Given the description of an element on the screen output the (x, y) to click on. 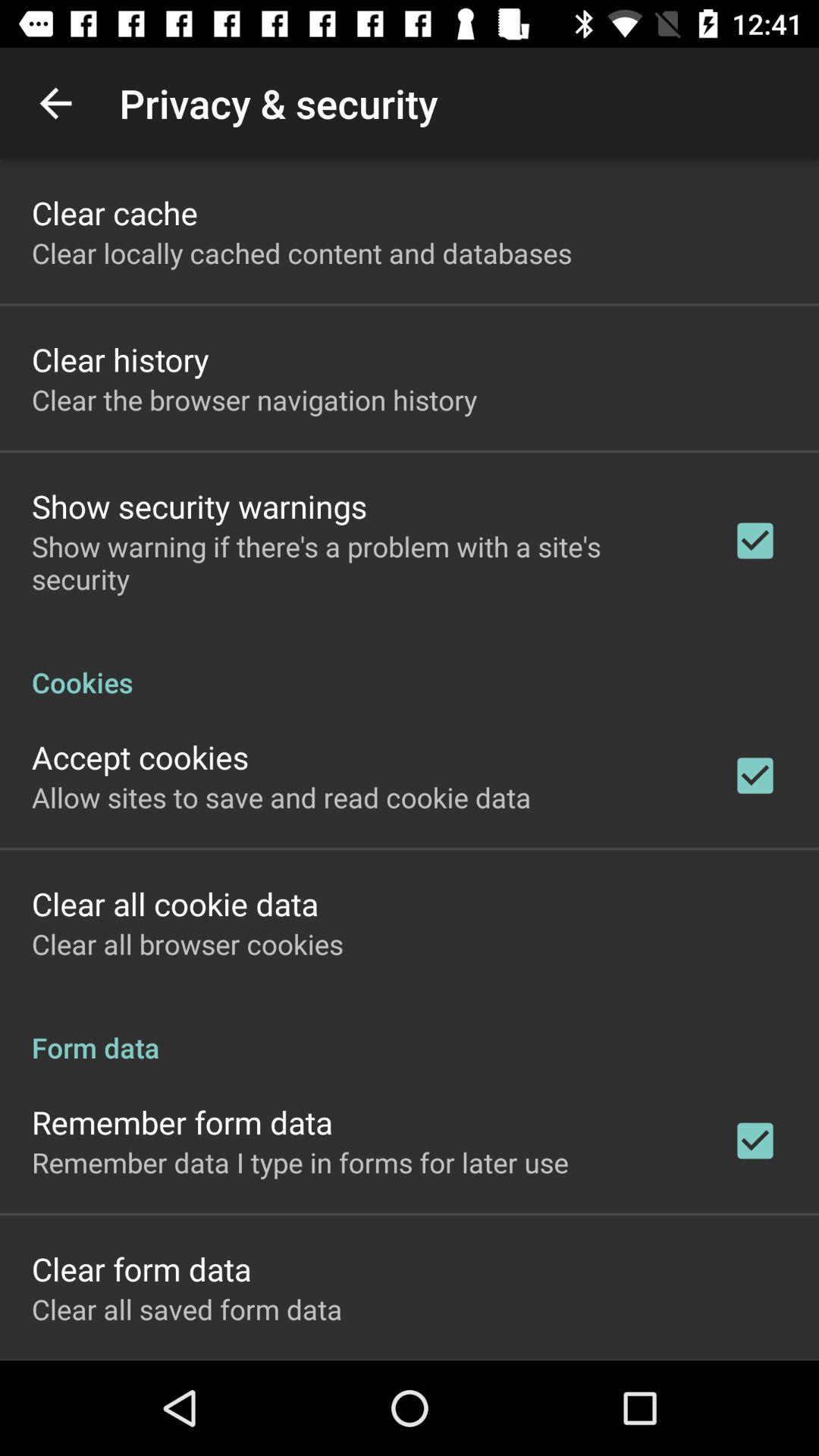
choose the icon above allow sites to (140, 756)
